Given the description of an element on the screen output the (x, y) to click on. 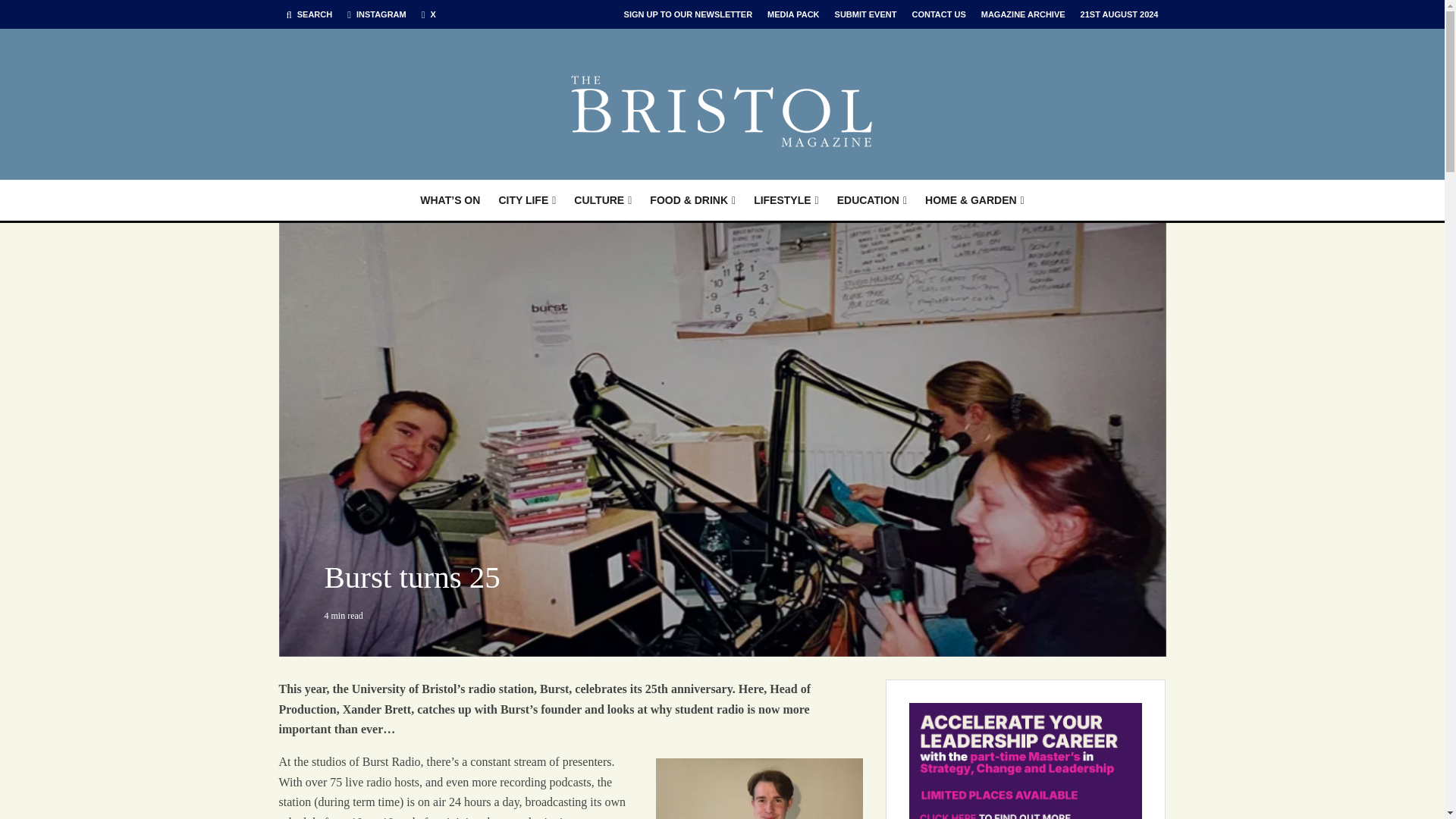
MAGAZINE ARCHIVE (1023, 14)
CITY LIFE (526, 200)
INSTAGRAM (376, 14)
SUBMIT EVENT (865, 14)
SIGN UP TO OUR NEWSLETTER (687, 14)
CULTURE (602, 200)
X (428, 14)
CONTACT US (938, 14)
MEDIA PACK (793, 14)
SEARCH (309, 14)
